Given the description of an element on the screen output the (x, y) to click on. 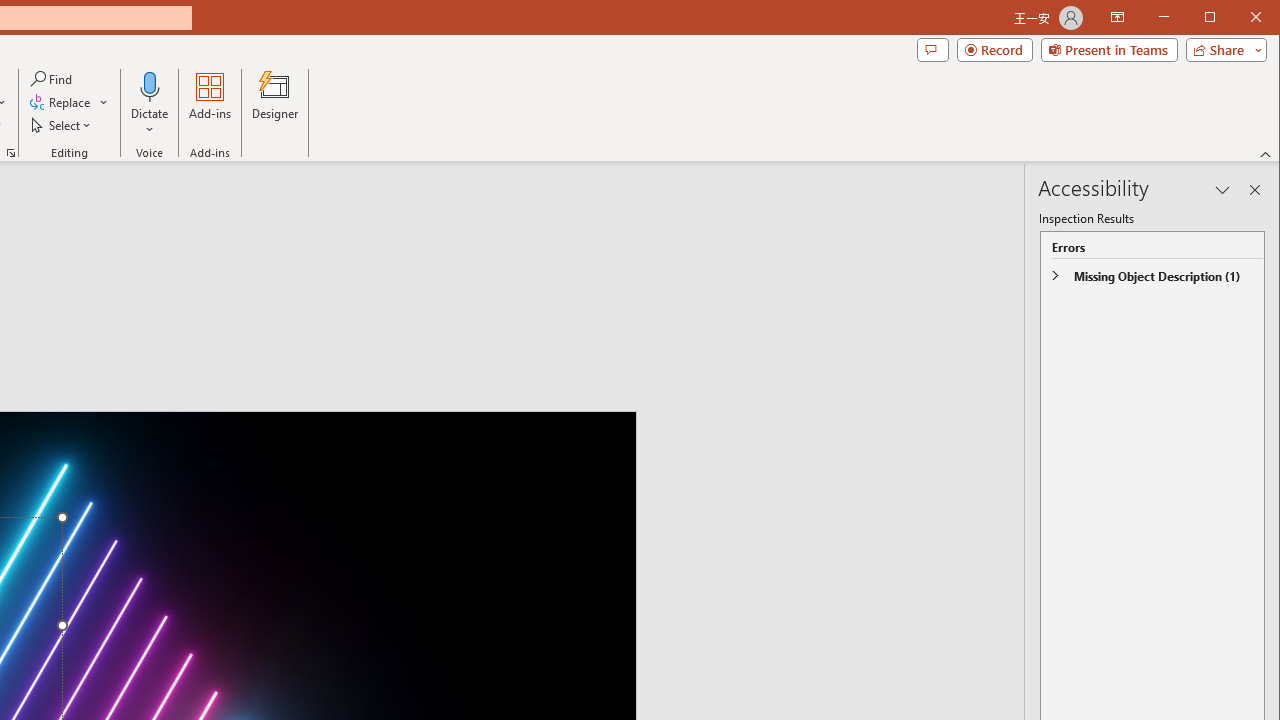
Designer (274, 104)
Dictate (150, 86)
